Given the description of an element on the screen output the (x, y) to click on. 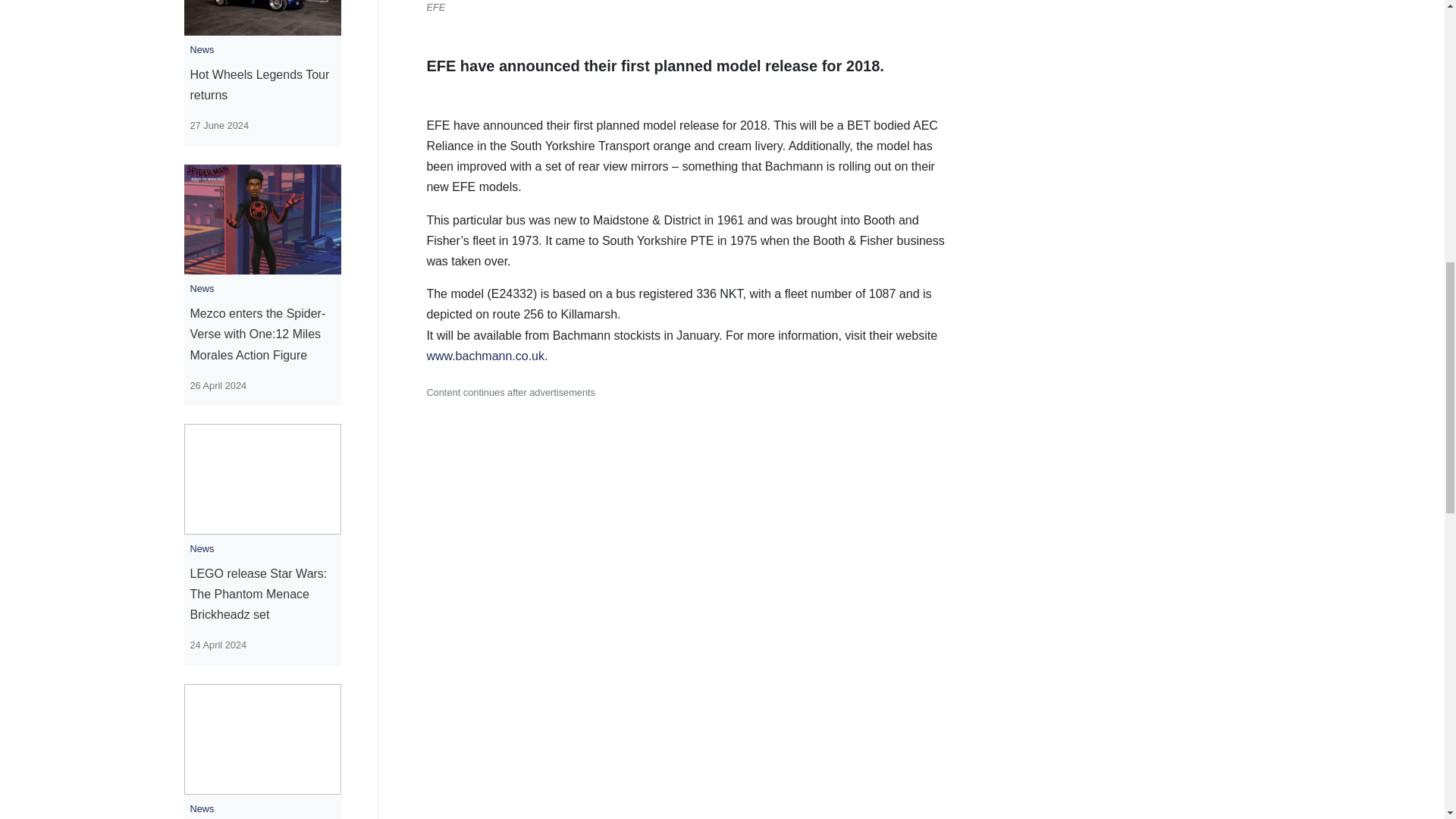
LEGO release Star Wars: The Phantom Menace Brickheadz set (261, 594)
Hot Wheels Legends Tour returns (261, 84)
